Given the description of an element on the screen output the (x, y) to click on. 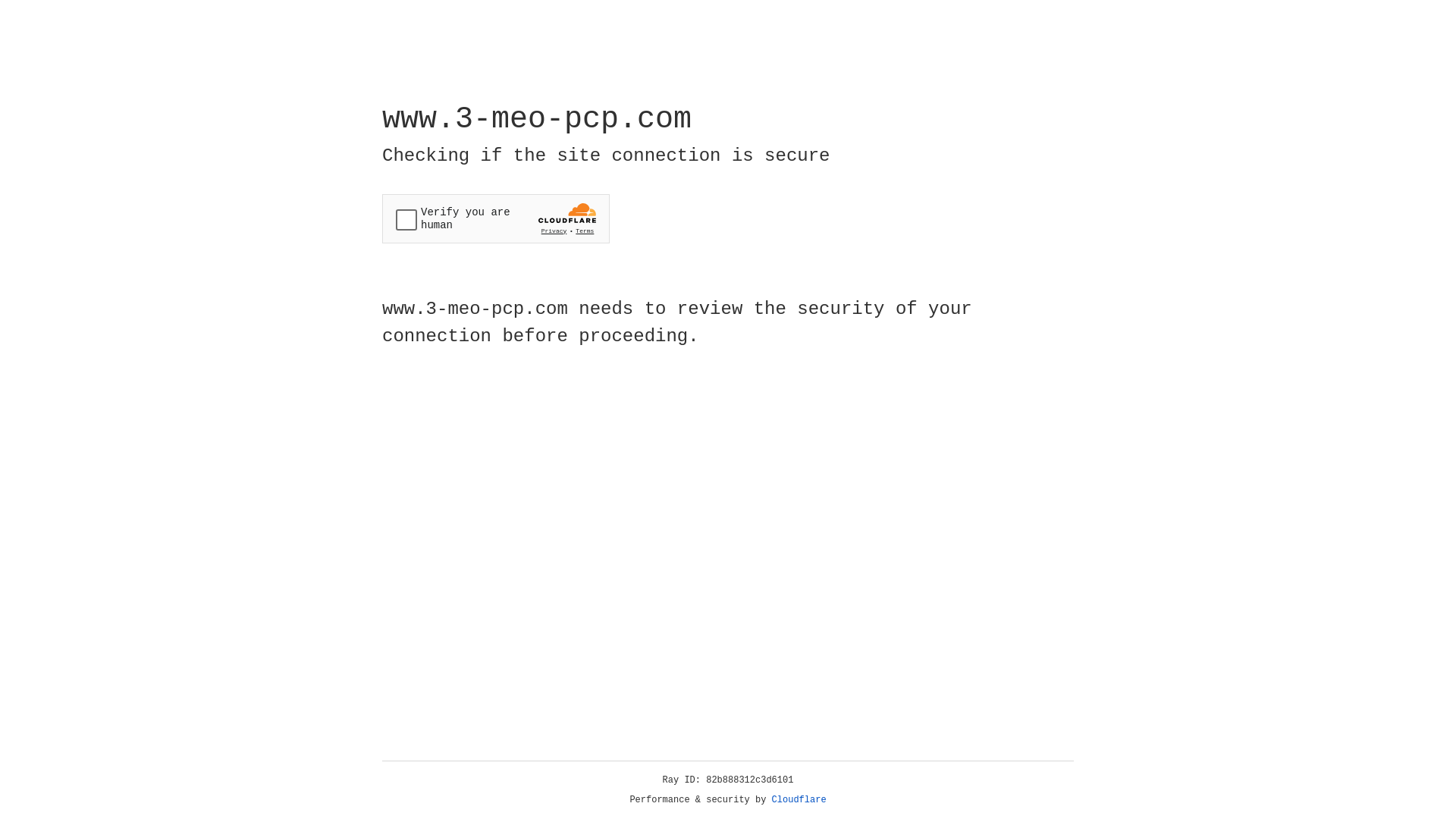
Cloudflare Element type: text (798, 799)
Widget containing a Cloudflare security challenge Element type: hover (495, 218)
